Given the description of an element on the screen output the (x, y) to click on. 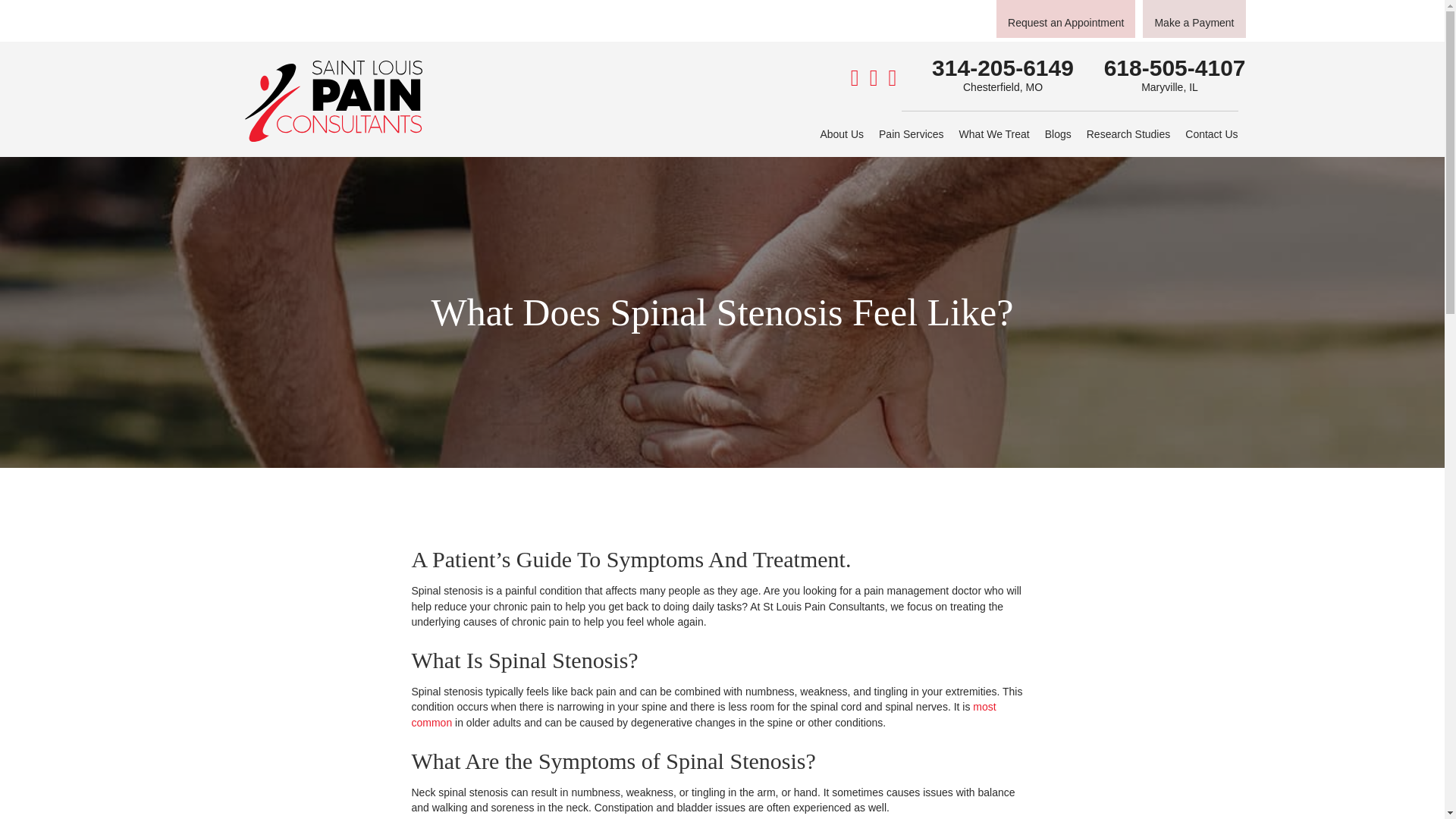
314-205-6149 (1002, 67)
314-205-6149 (1002, 67)
About Us (841, 133)
Make a Payment (1193, 18)
What We Treat (994, 133)
Maryville, IL (1169, 87)
stlouis-pain-consultants-logo (333, 100)
Pain Services (911, 133)
Chesterfield, MO (1002, 87)
618-505-4107 (1174, 67)
